Given the description of an element on the screen output the (x, y) to click on. 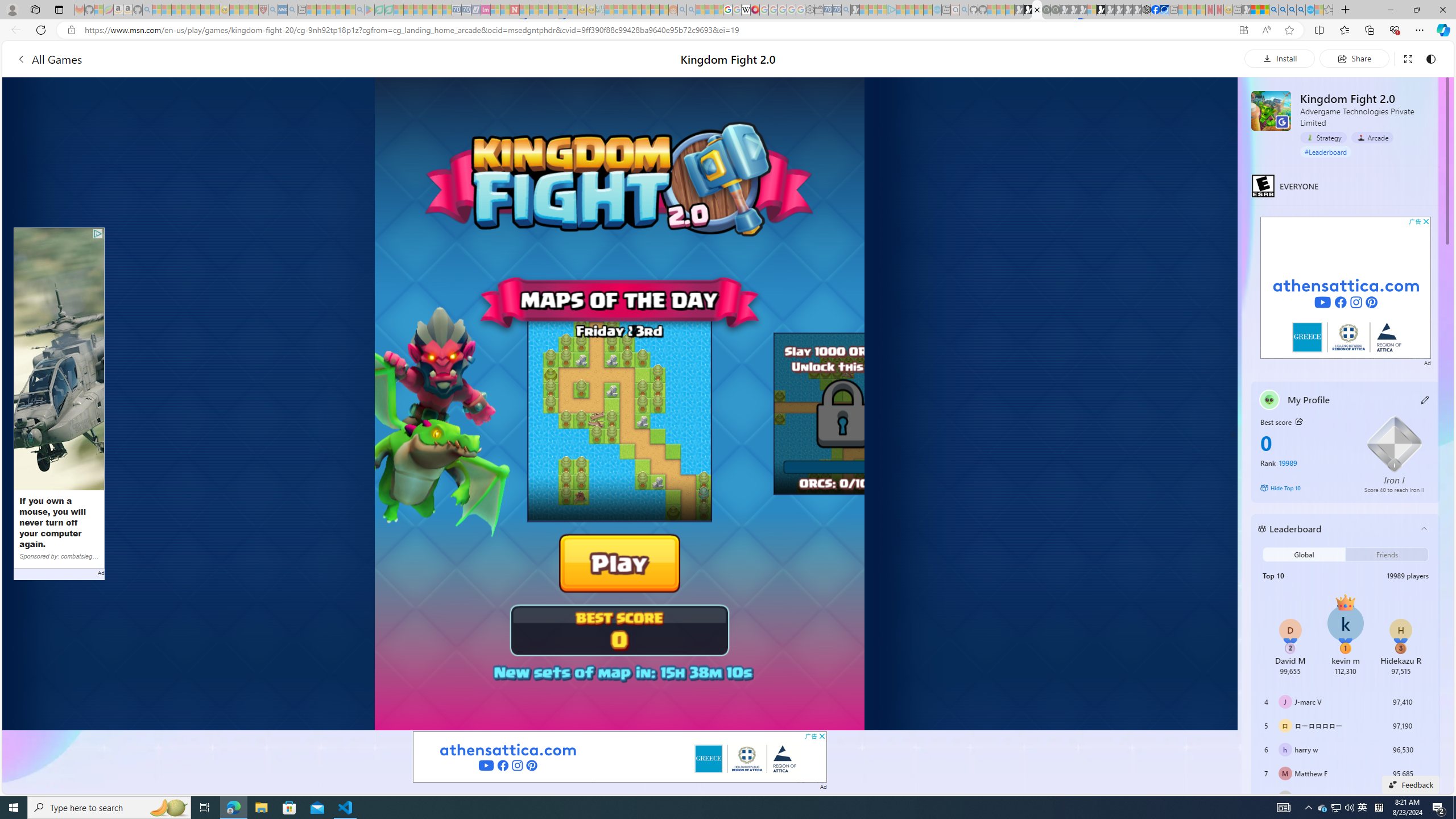
Bing AI - Search (1272, 9)
Utah sues federal government - Search - Sleeping (690, 9)
Friends (1387, 554)
NCL Adult Asthma Inhaler Choice Guideline - Sleeping (282, 9)
Robert H. Shmerling, MD - Harvard Health - Sleeping (263, 9)
Microsoft account | Privacy - Sleeping (882, 9)
Hide Top 10 (1304, 487)
